Given the description of an element on the screen output the (x, y) to click on. 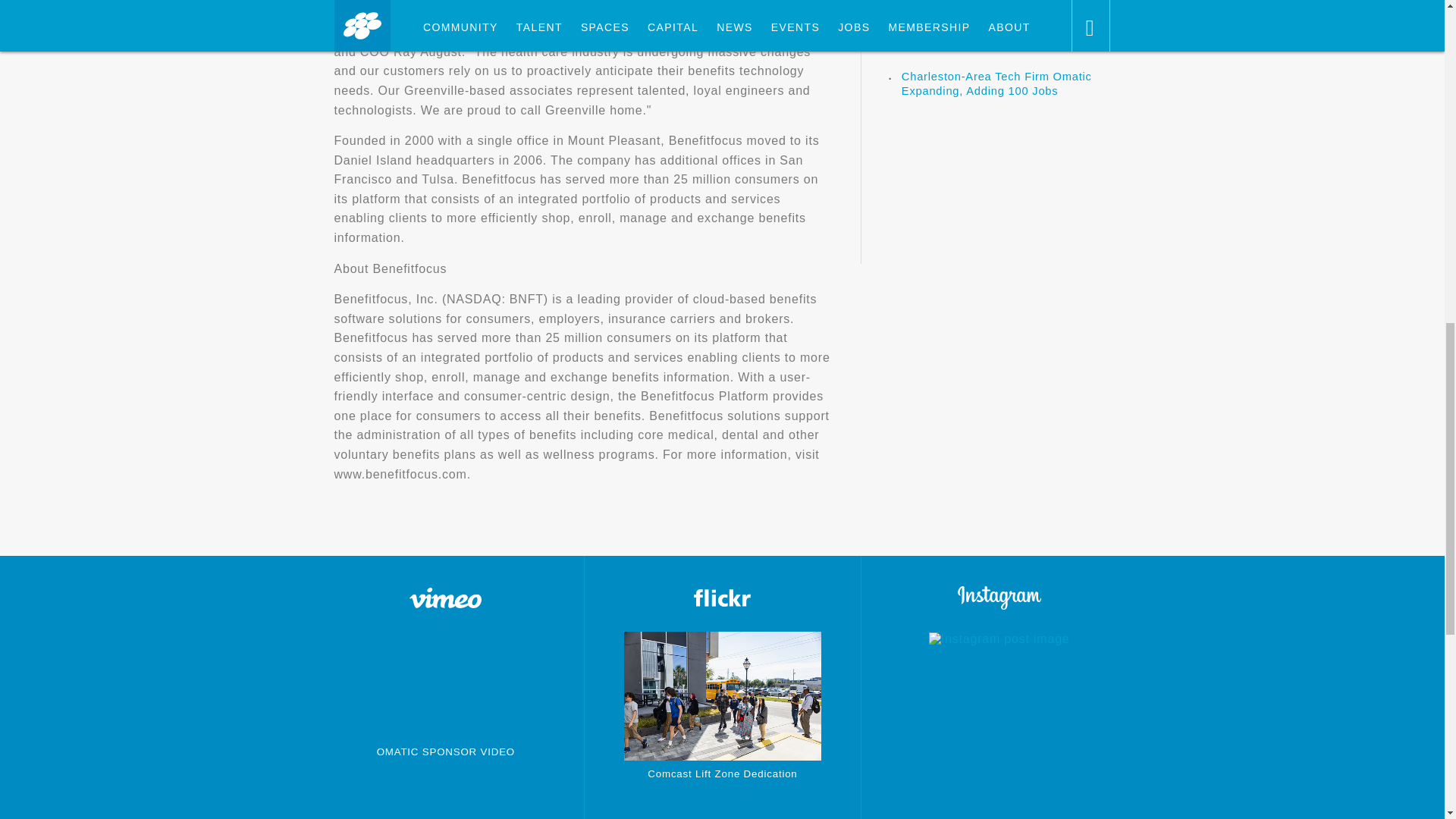
Charleston-Area Tech Firm Omatic Expanding, Adding 100 Jobs (996, 83)
